Given the description of an element on the screen output the (x, y) to click on. 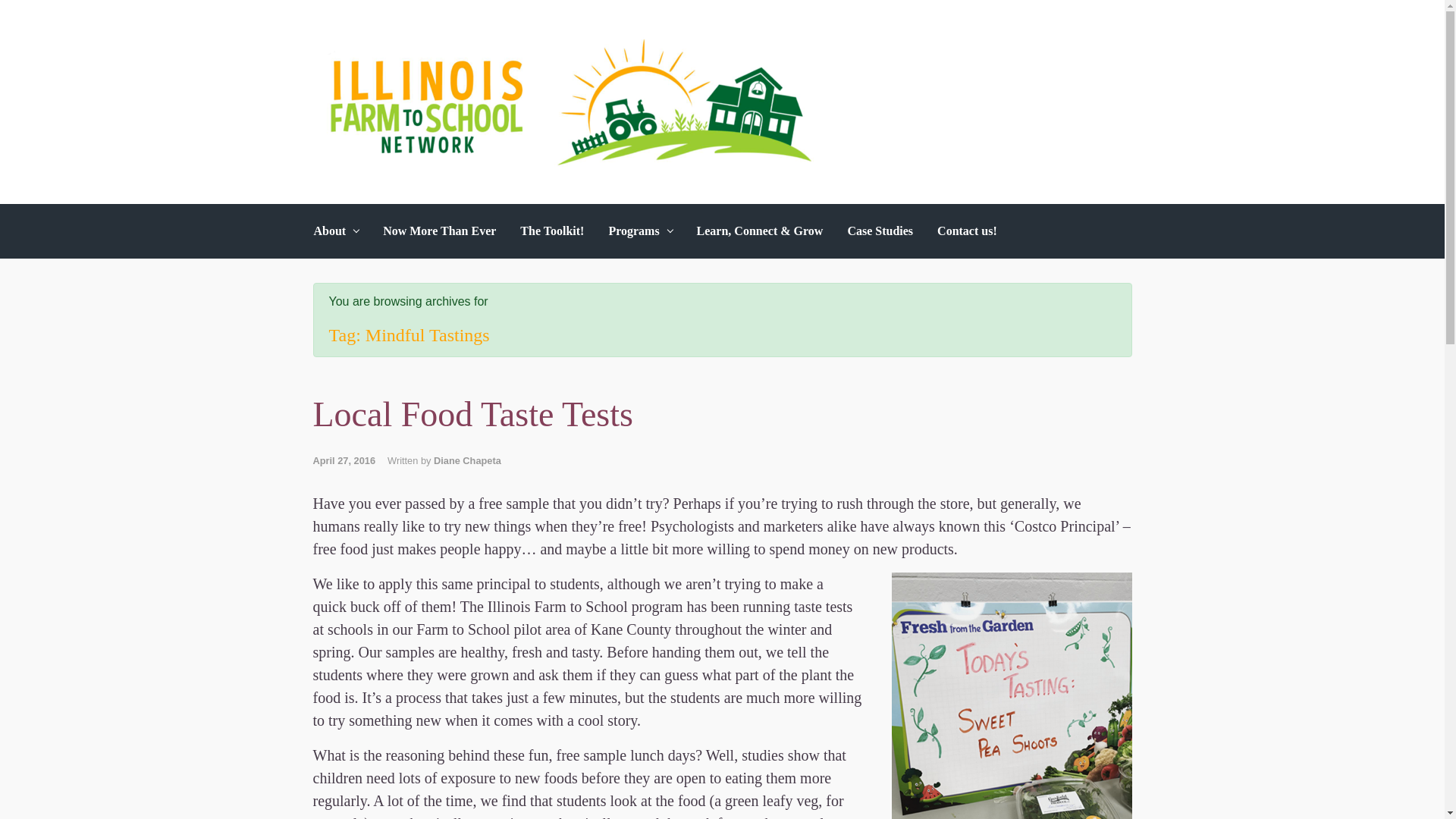
Case Studies (879, 230)
Programs (640, 230)
April 27, 2016 (350, 460)
Contact us! (967, 230)
About (336, 230)
Skip to main content (20, 11)
The Toolkit! (551, 230)
Local Food Taste Tests (472, 414)
View all posts by Diane Chapeta (466, 460)
Now More Than Ever (439, 230)
Diane Chapeta (466, 460)
